Given the description of an element on the screen output the (x, y) to click on. 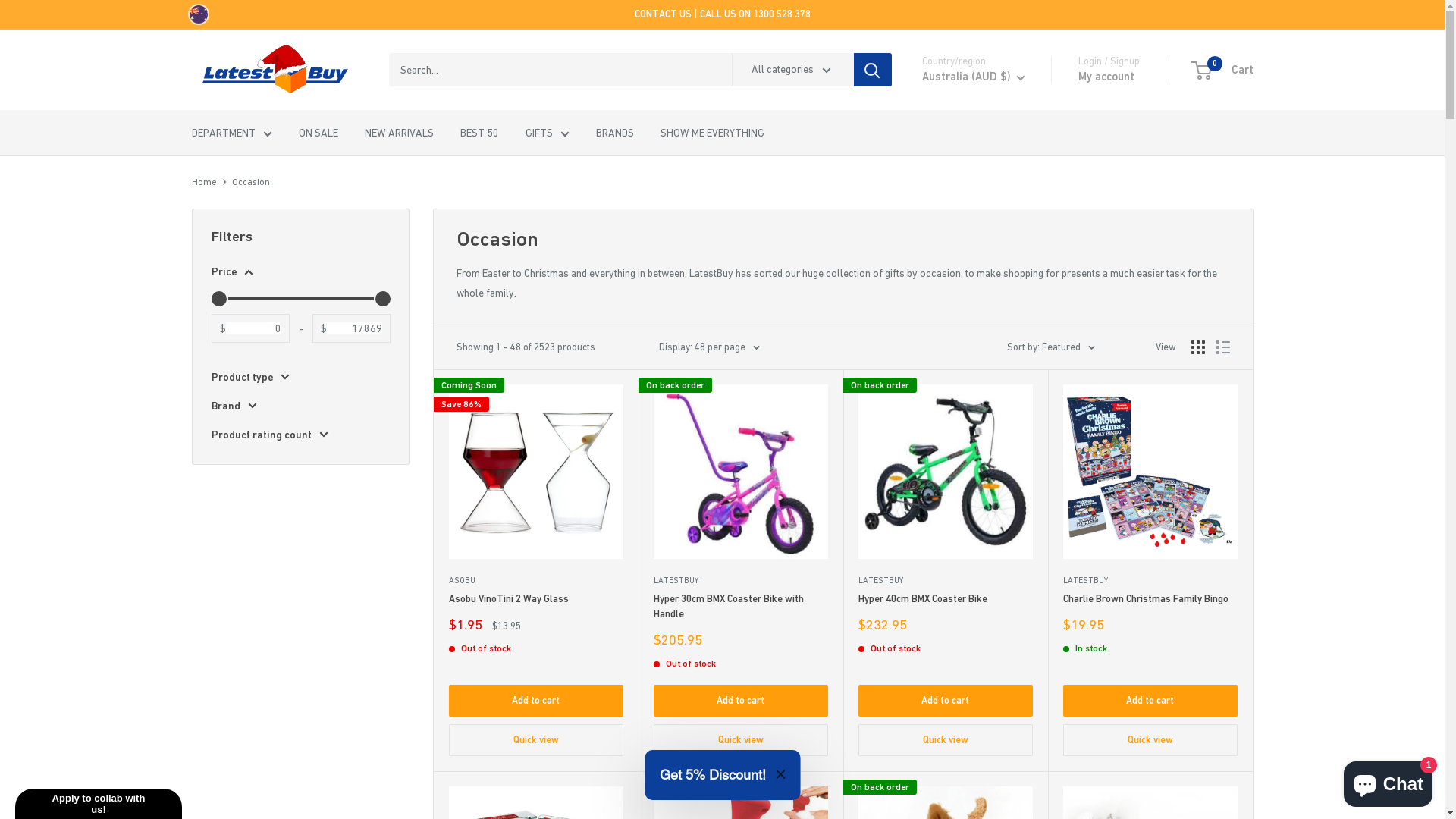
CA Element type: text (956, 247)
Asobu VinoTini 2 Way Glass Element type: text (535, 598)
BE Element type: text (956, 185)
ON SALE Element type: text (318, 132)
BRANDS Element type: text (614, 132)
BG Element type: text (956, 227)
HR Element type: text (956, 309)
BQ Element type: text (956, 268)
LATESTBUY Element type: text (1150, 580)
Home Element type: text (203, 181)
Add to cart Element type: text (945, 700)
ASOBU Element type: text (535, 580)
IL Element type: text (956, 597)
MY Element type: text (956, 720)
IN Element type: text (956, 556)
LU Element type: text (956, 700)
FR Element type: text (956, 453)
DE Element type: text (956, 474)
Brand Element type: text (299, 405)
LATESTBUY Element type: text (945, 580)
CN Element type: text (956, 288)
Quick view Element type: text (1150, 740)
MT Element type: text (956, 742)
BR Element type: text (956, 206)
Quick view Element type: text (740, 740)
NEW ARRIVALS Element type: text (398, 132)
CONTACT US | CALL US ON 1300 528 378 Element type: text (721, 14)
GIFTS Element type: text (546, 132)
Hyper 40cm BMX Coaster Bike Element type: text (945, 598)
My account Element type: text (1106, 76)
LATESTBUY Element type: text (740, 580)
Quick view Element type: text (945, 740)
BY Element type: text (956, 164)
NL Element type: text (956, 782)
Sort by: Featured Element type: text (1051, 347)
GR Element type: text (956, 494)
LV Element type: text (956, 659)
HU Element type: text (956, 535)
Display: 48 per page Element type: text (708, 347)
Shopify online store chat Element type: hover (1388, 780)
Product rating count Element type: text (299, 434)
Add to cart Element type: text (1150, 700)
CZ Element type: text (956, 350)
Price Element type: text (299, 271)
DK Element type: text (956, 371)
Add to cart Element type: text (740, 700)
Product type Element type: text (299, 376)
Australia (AUD $) Element type: text (973, 76)
SHOW ME EVERYTHING Element type: text (711, 132)
AT Element type: text (956, 144)
LT Element type: text (956, 679)
BEST 50 Element type: text (478, 132)
HK Element type: text (956, 515)
FI Element type: text (956, 432)
AU Element type: text (956, 123)
Hyper 30cm BMX Coaster Bike with Handle Element type: text (740, 606)
Add to cart Element type: text (535, 700)
IT Element type: text (956, 618)
NZ Element type: text (956, 803)
0
Cart Element type: text (1222, 69)
FJ Element type: text (956, 412)
Occasion Element type: text (250, 181)
Quick view Element type: text (535, 740)
JP Element type: text (956, 638)
DEPARTMENT Element type: text (231, 132)
IE Element type: text (956, 576)
MX Element type: text (956, 762)
Charlie Brown Christmas Family Bingo Element type: text (1150, 598)
EE Element type: text (956, 391)
CY Element type: text (956, 330)
